Given the description of an element on the screen output the (x, y) to click on. 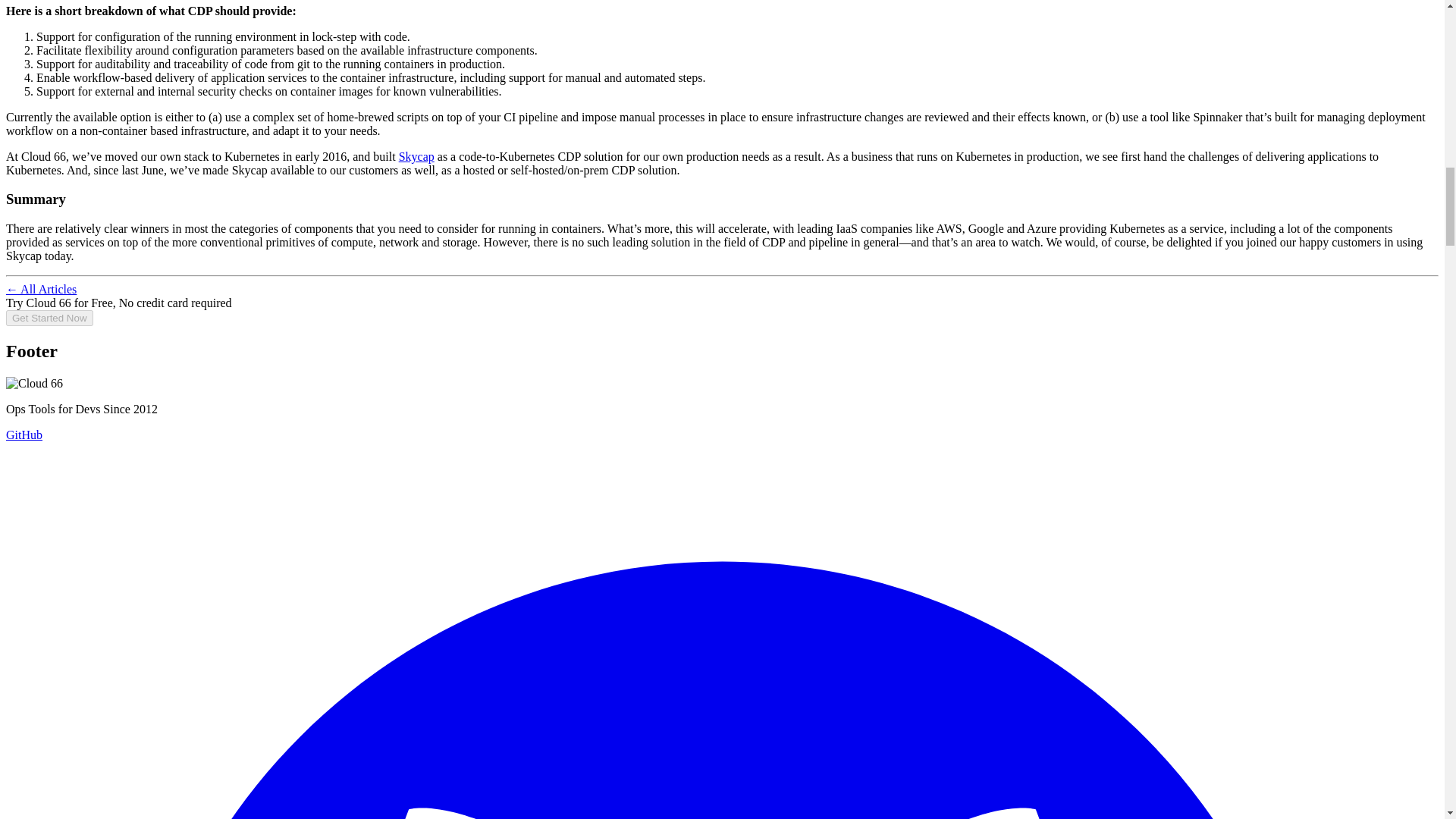
Skycap (415, 155)
Get Started Now (49, 317)
Get Started Now (49, 317)
